Given the description of an element on the screen output the (x, y) to click on. 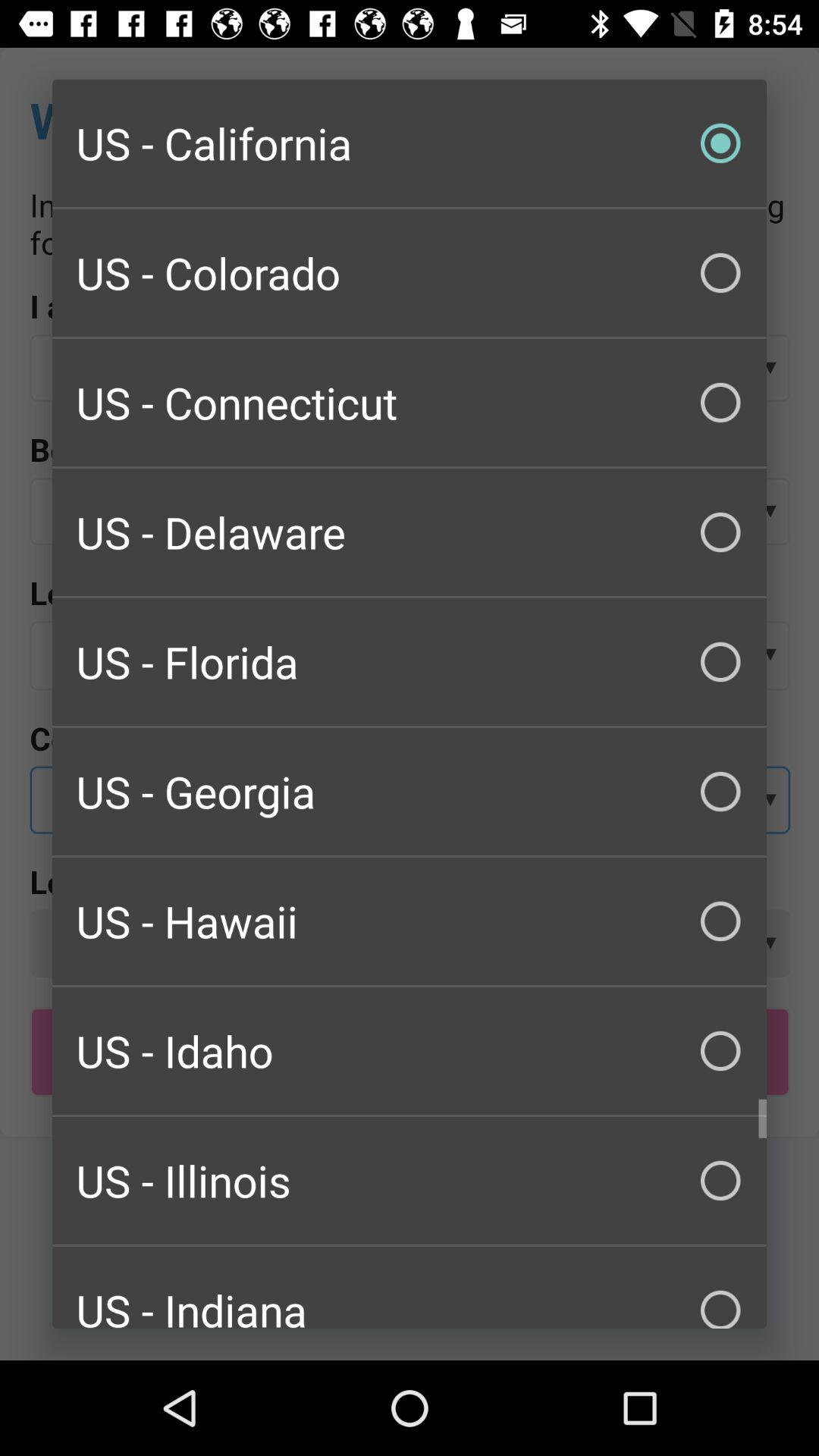
turn off the item below us - delaware (409, 661)
